Given the description of an element on the screen output the (x, y) to click on. 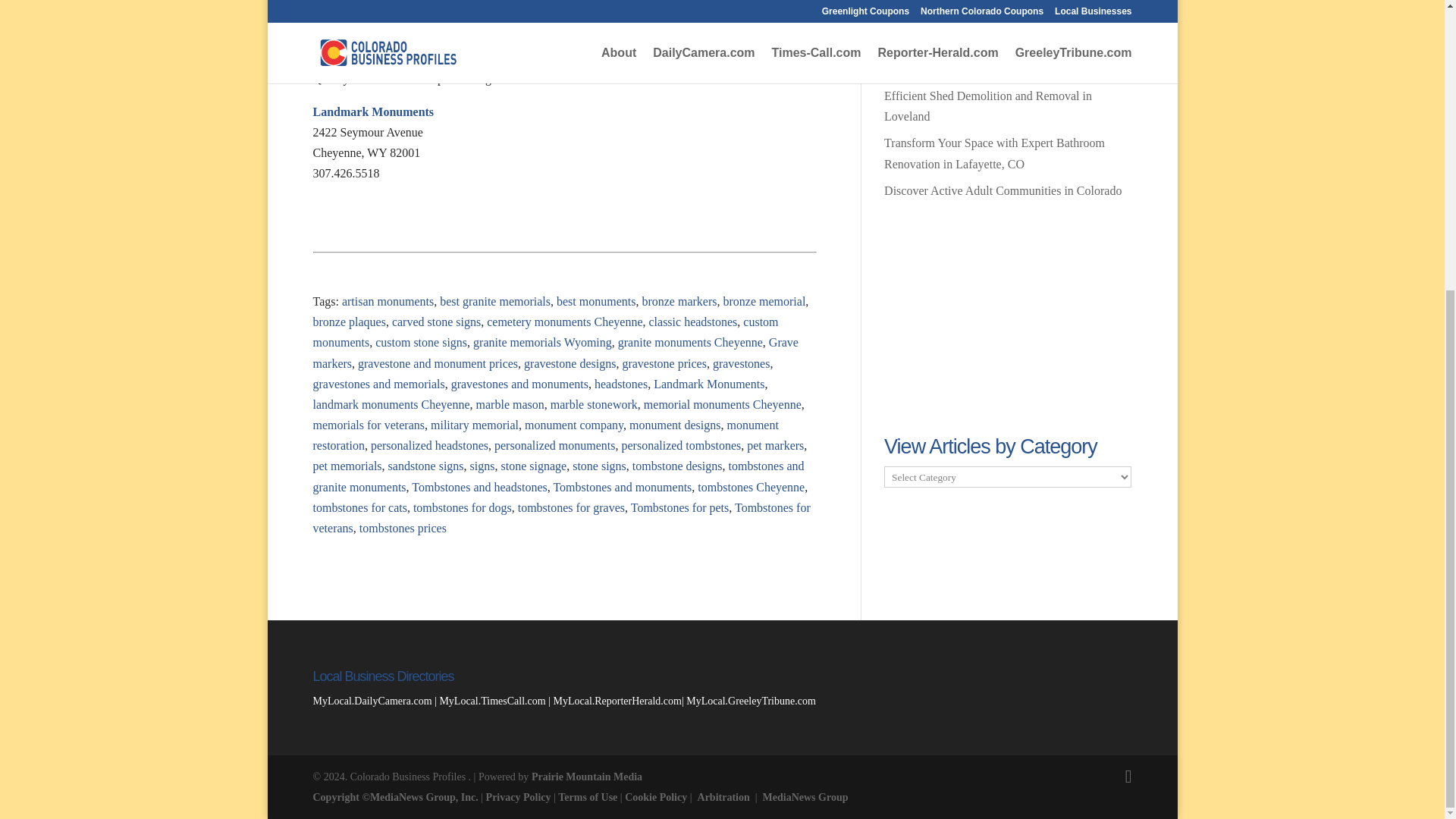
custom stone signs (421, 341)
granite monuments Cheyenne (689, 341)
best monuments (595, 300)
carved stone signs (435, 321)
gravestone prices (663, 362)
granite memorials Wyoming (542, 341)
custom monuments (545, 331)
Landmark Monuments (373, 111)
best granite memorials (494, 300)
artisan monuments (387, 300)
bronze plaques (349, 321)
classic headstones (691, 321)
gravestones and monuments (519, 383)
gravestone designs (569, 362)
gravestones and memorials (378, 383)
